Given the description of an element on the screen output the (x, y) to click on. 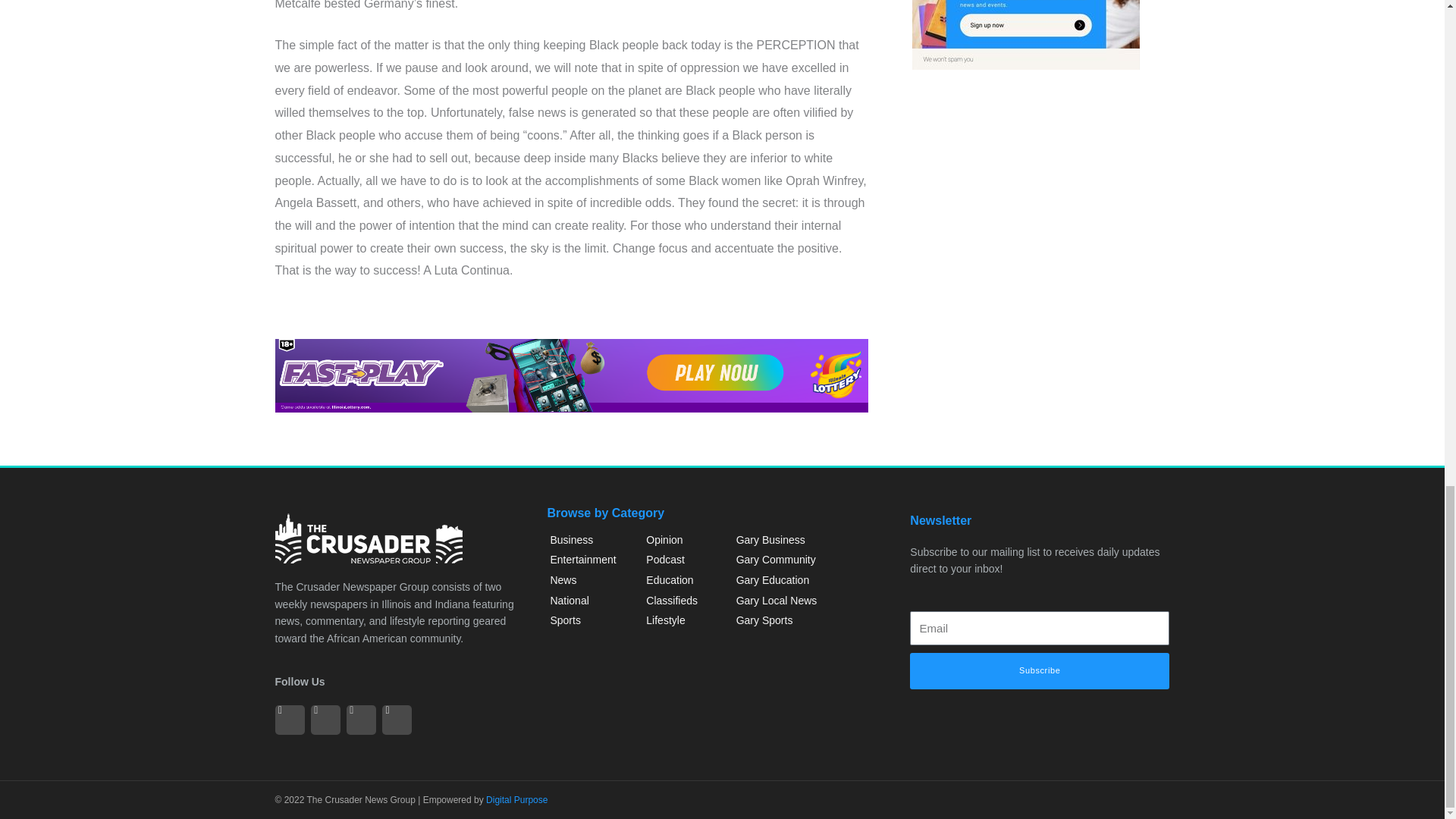
Fast Play-Lottery-Footer-July 2024 (571, 375)
